Given the description of an element on the screen output the (x, y) to click on. 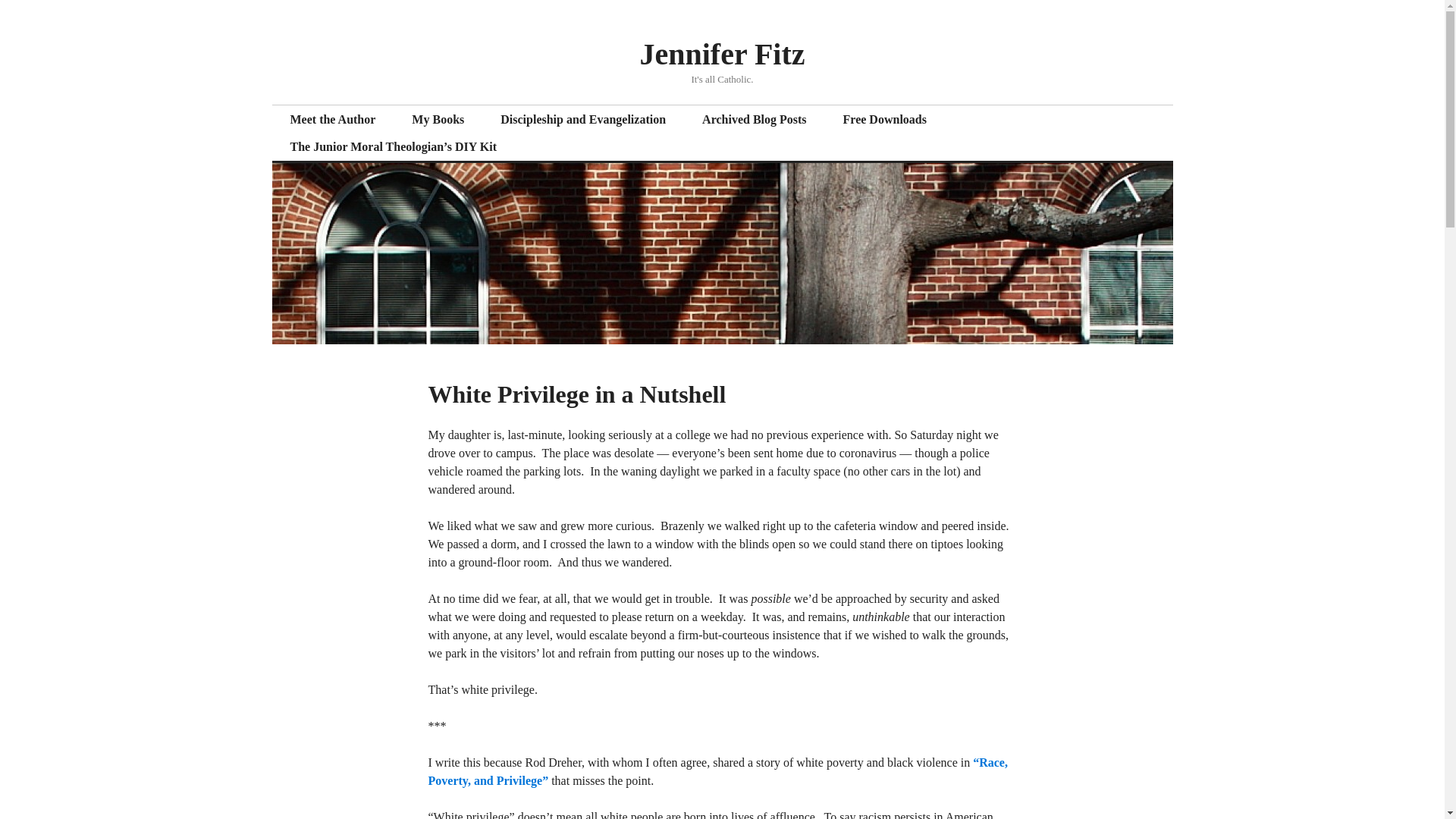
Free Downloads (884, 119)
Jennifer Fitz (722, 53)
Discipleship and Evangelization (582, 119)
My Books (437, 119)
Meet the Author (331, 119)
Archived Blog Posts (754, 119)
